Given the description of an element on the screen output the (x, y) to click on. 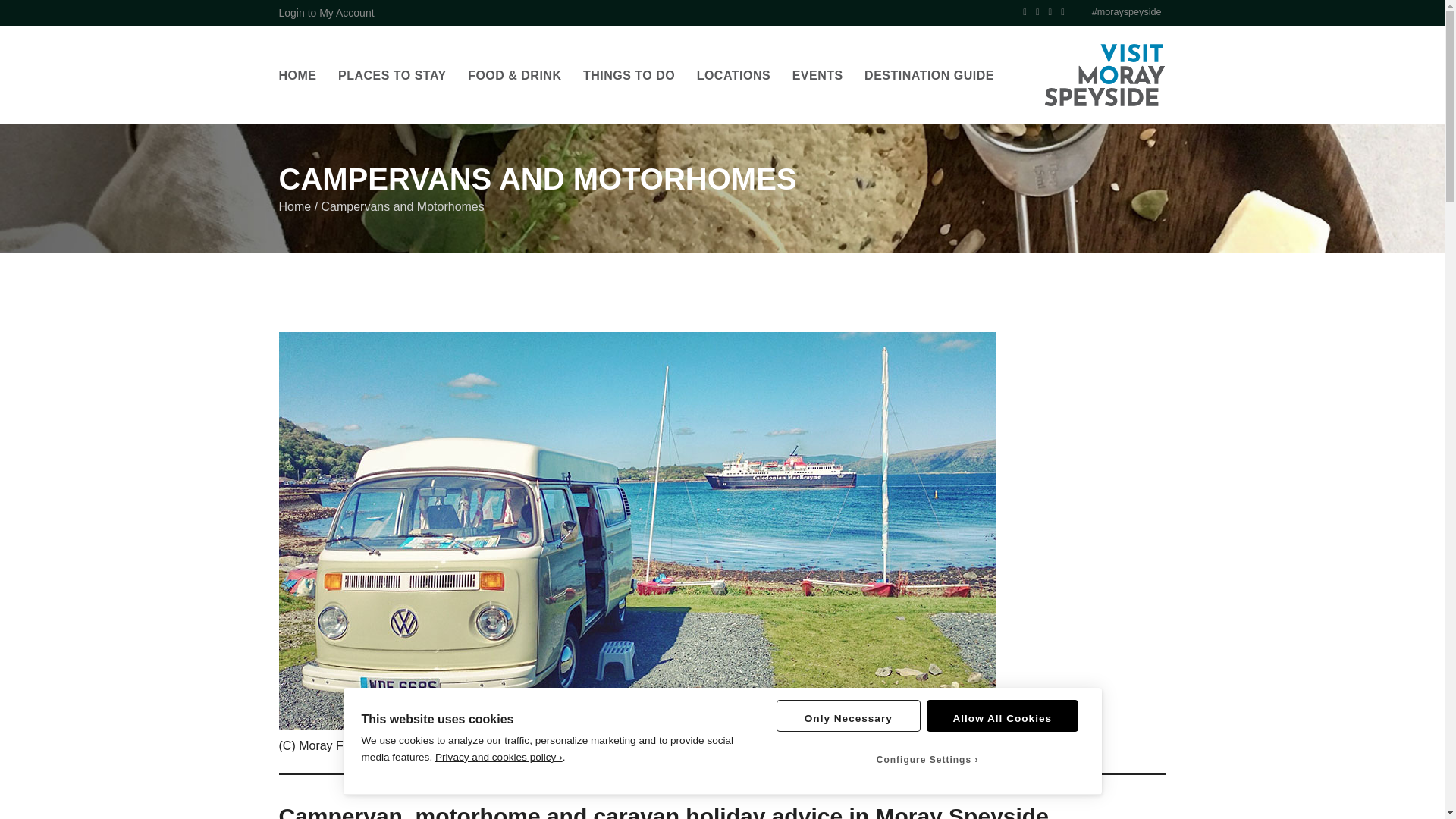
Home (295, 205)
HOME (298, 75)
THINGS TO DO (629, 75)
Login to My Account (326, 12)
Open our Destination Guide (929, 75)
EVENTS (817, 75)
Visit Moray Speyside (1104, 75)
DESTINATION GUIDE (929, 75)
LOCATIONS (734, 75)
PLACES TO STAY (391, 75)
